Given the description of an element on the screen output the (x, y) to click on. 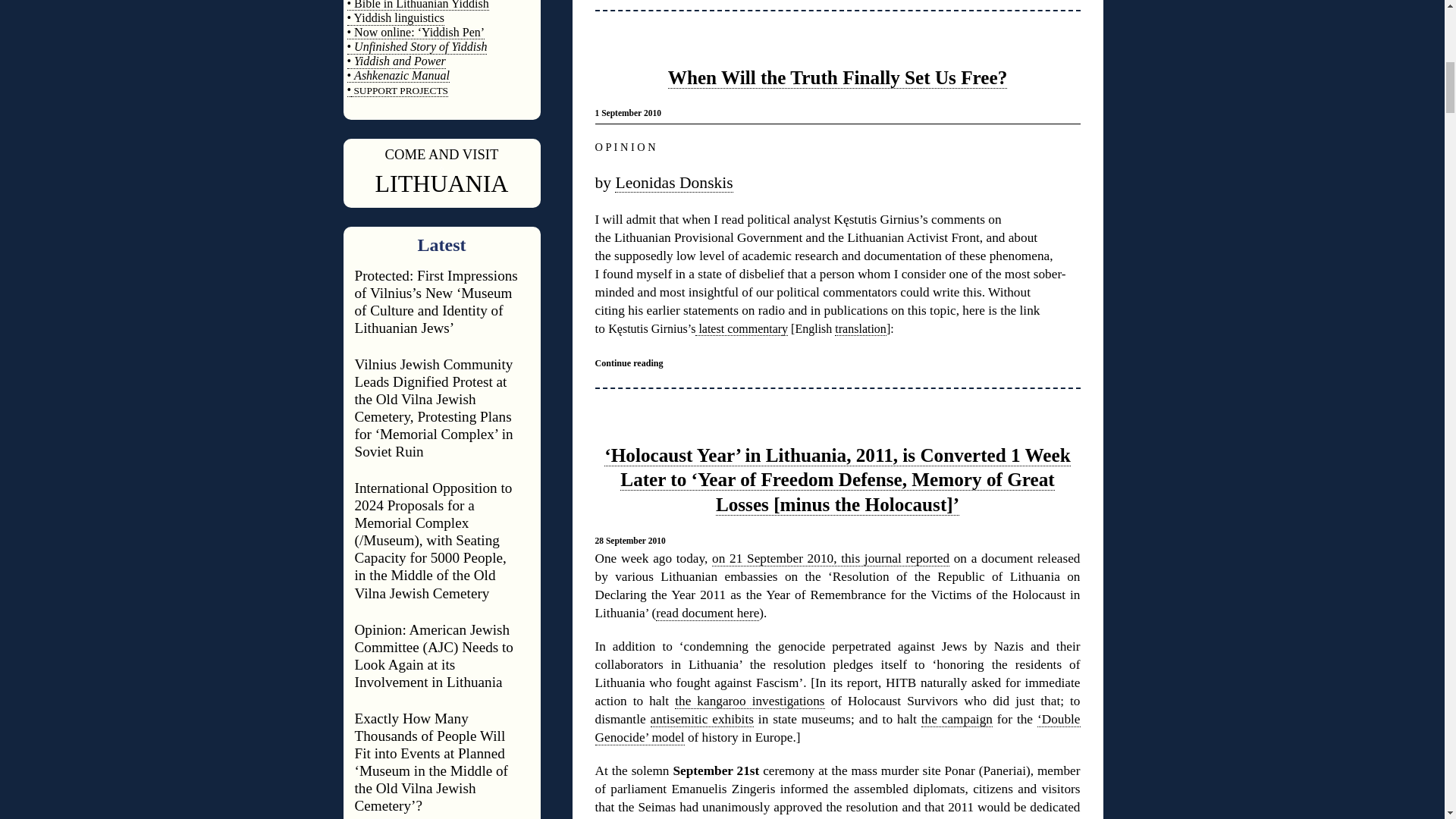
Permalink to When Will the Truth Finally Set Us Free? (837, 77)
SUPPORT PROJECTS (399, 91)
